Given the description of an element on the screen output the (x, y) to click on. 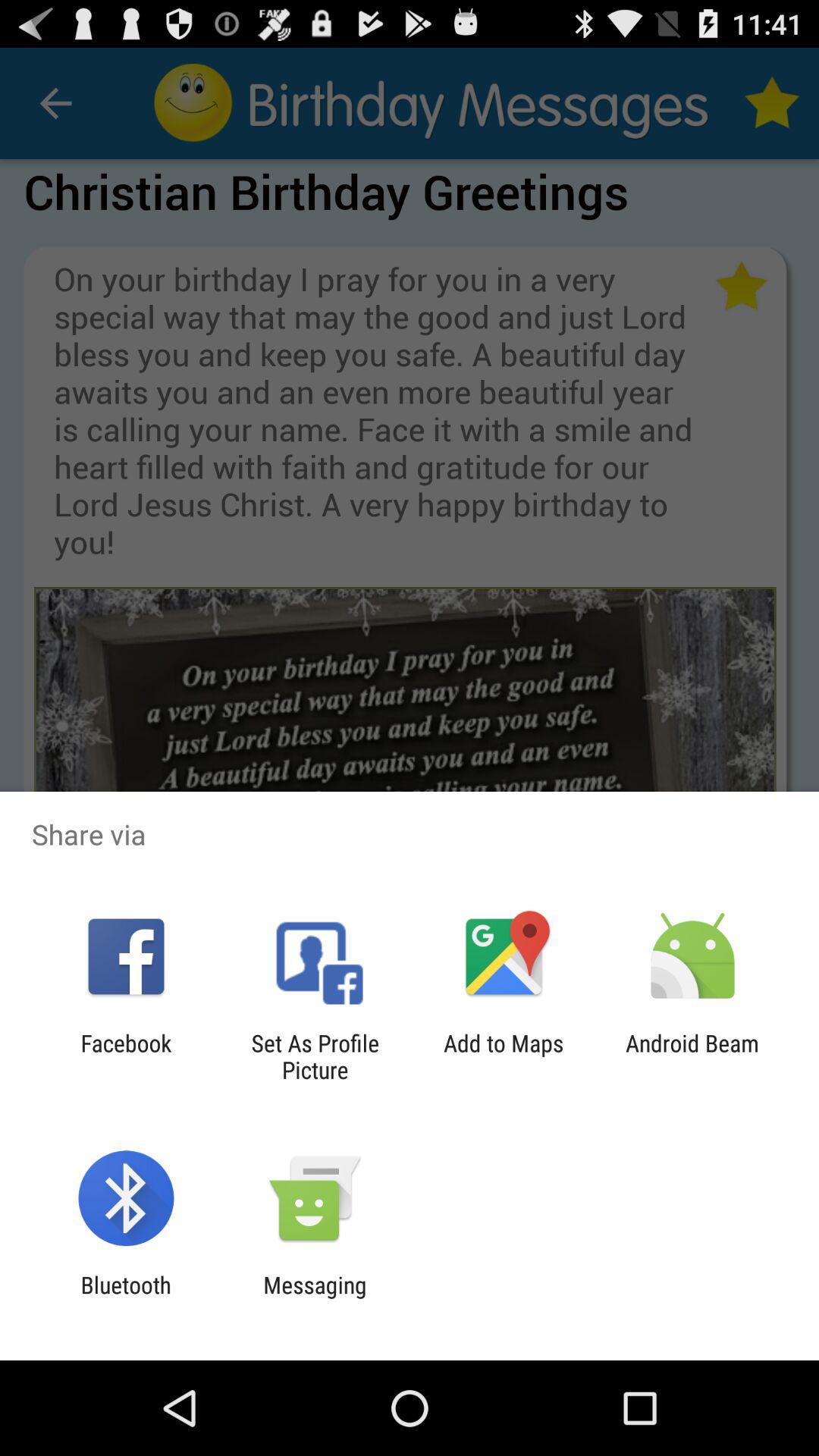
turn off the set as profile icon (314, 1056)
